Given the description of an element on the screen output the (x, y) to click on. 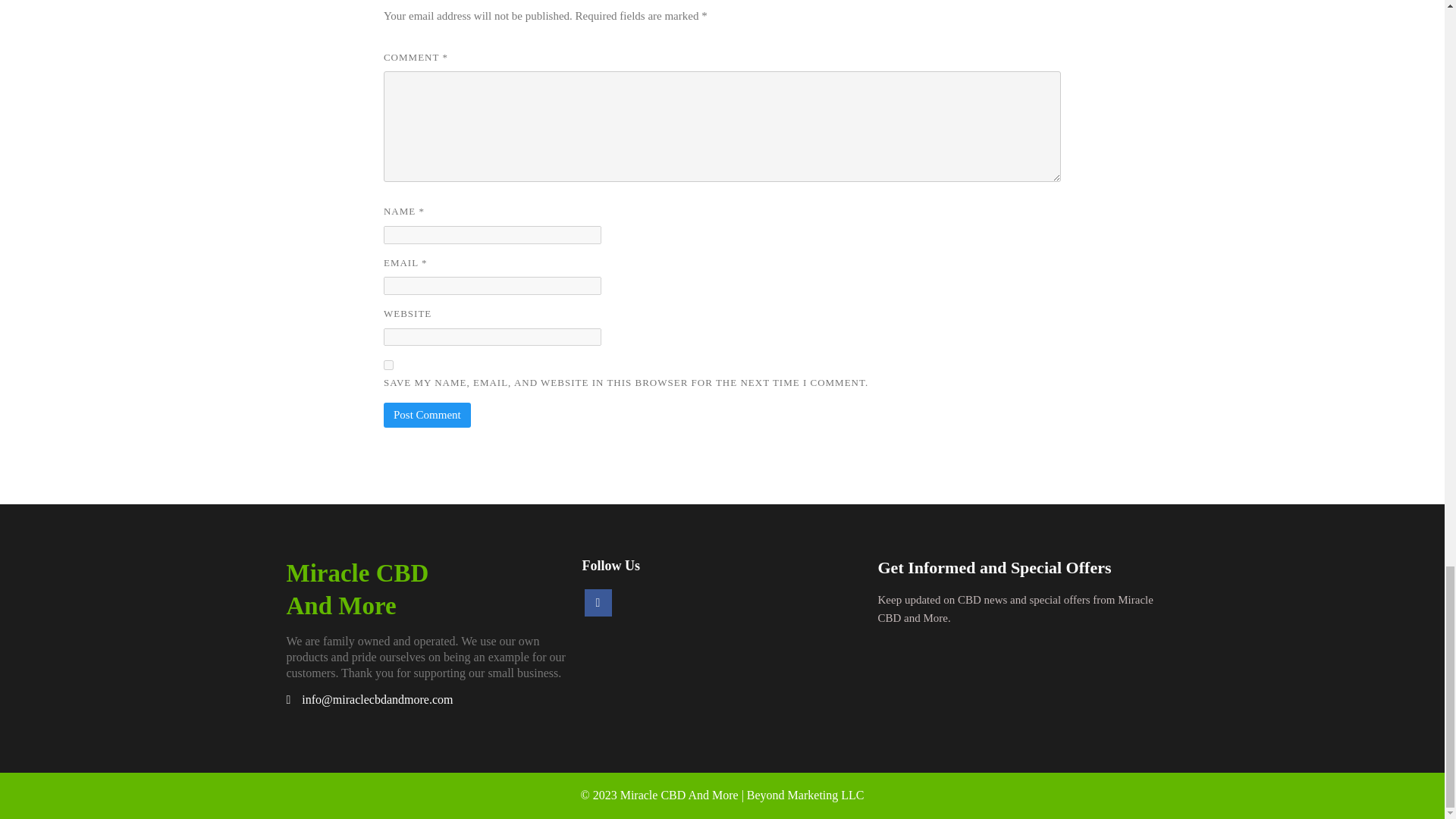
Post Comment (427, 414)
Post Comment (427, 414)
yes (426, 589)
